Given the description of an element on the screen output the (x, y) to click on. 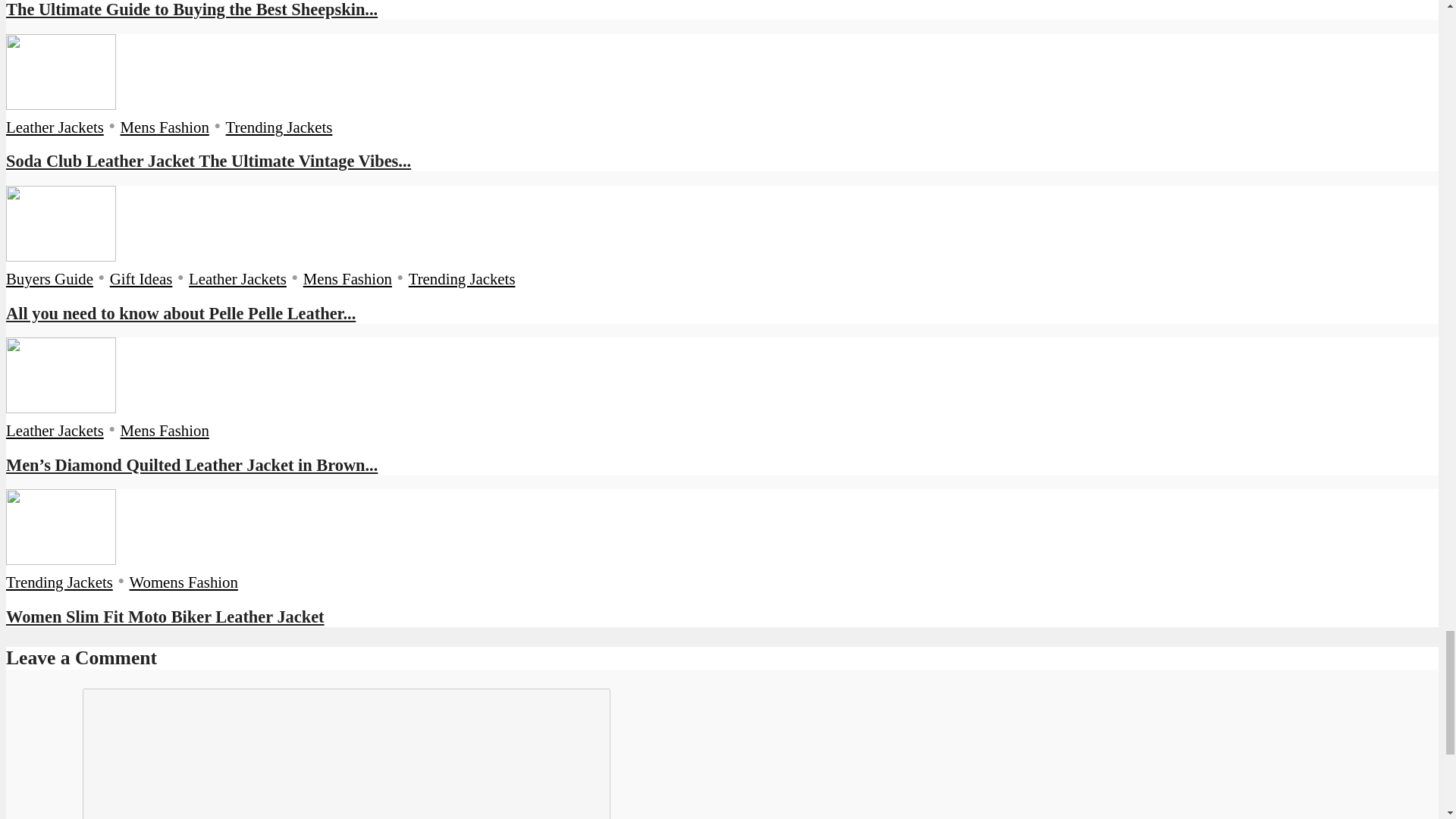
The Ultimate Guide to Buying the Best Sheepskin... (191, 9)
Women Slim Fit Moto Biker Leather Jacket (60, 558)
Women Slim Fit Moto Biker Leather Jacket (164, 616)
Leather Jackets (54, 126)
